Given the description of an element on the screen output the (x, y) to click on. 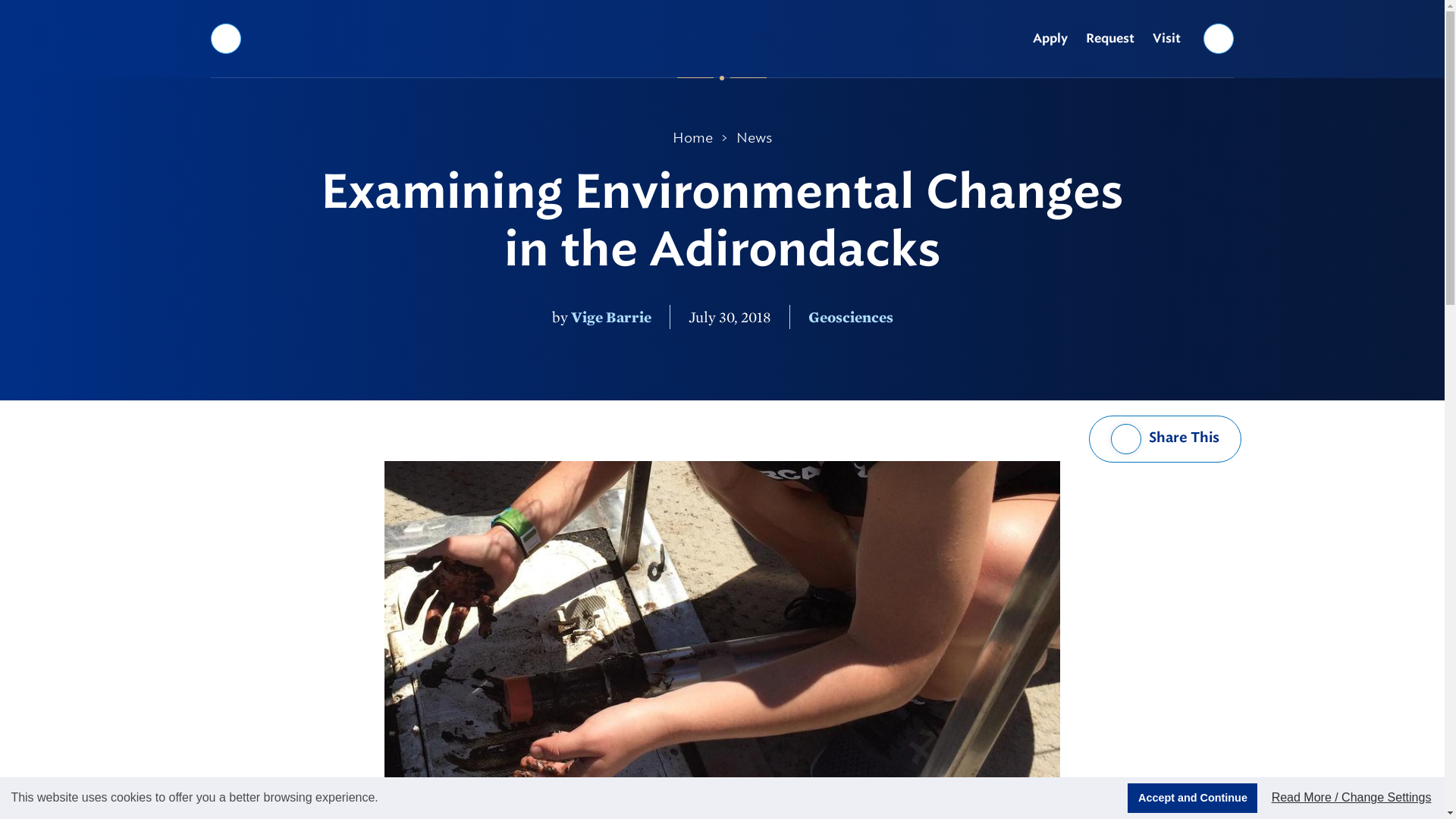
Home (692, 138)
Vige Barrie (610, 316)
Visit (1165, 38)
Apply (1050, 38)
Menu (225, 38)
Accept and Continue (1191, 797)
Geosciences (850, 316)
Search (1218, 38)
Hamilton (721, 38)
News (753, 138)
Request (1109, 38)
Share This (1165, 438)
